Given the description of an element on the screen output the (x, y) to click on. 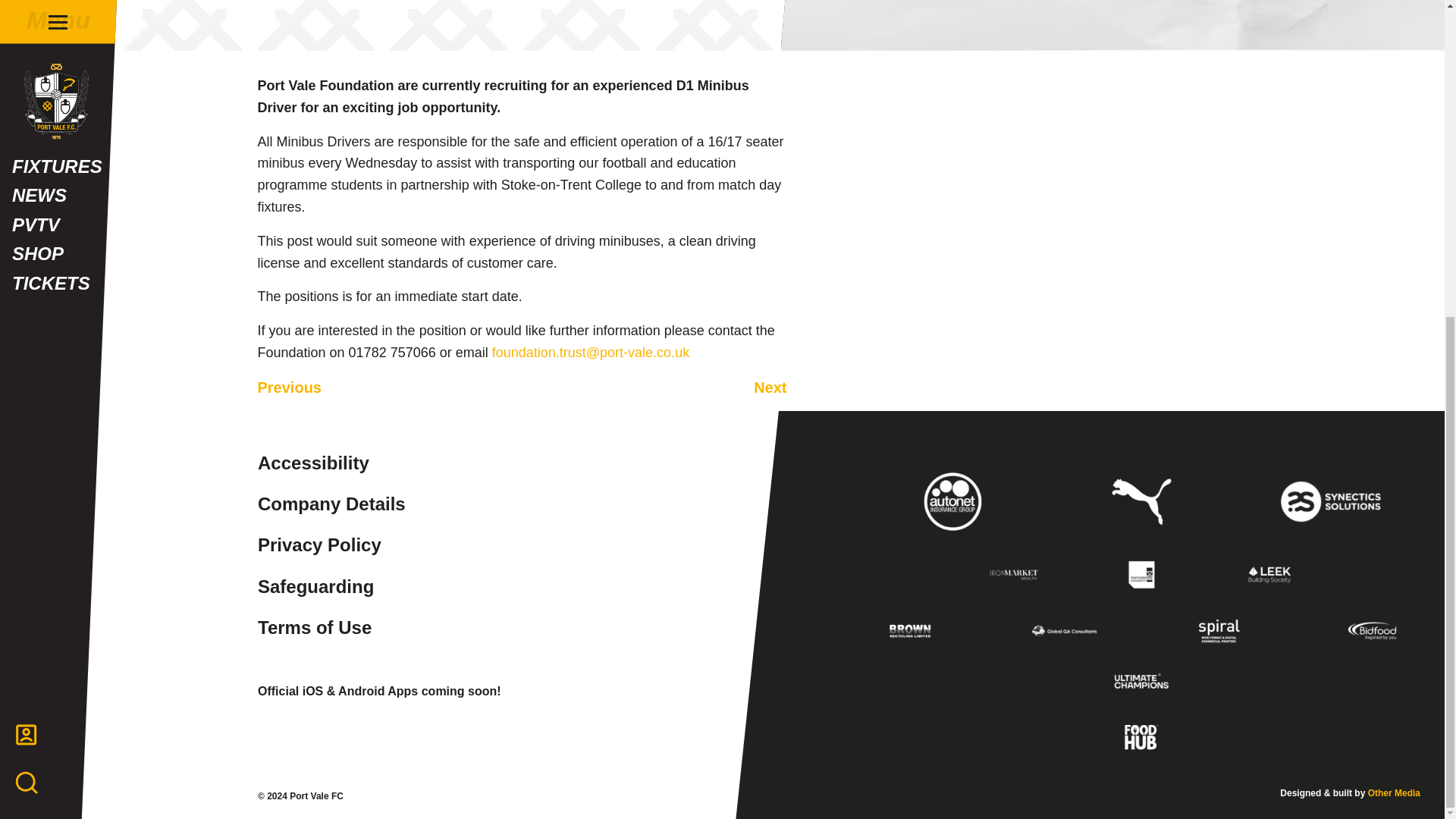
Ironmarket (1013, 574)
Leek Building Society (1269, 574)
Browns Recycling (909, 630)
Puma (1141, 501)
Autonet (953, 501)
Synectics (1330, 501)
Staffordshire Uni (1141, 574)
